Given the description of an element on the screen output the (x, y) to click on. 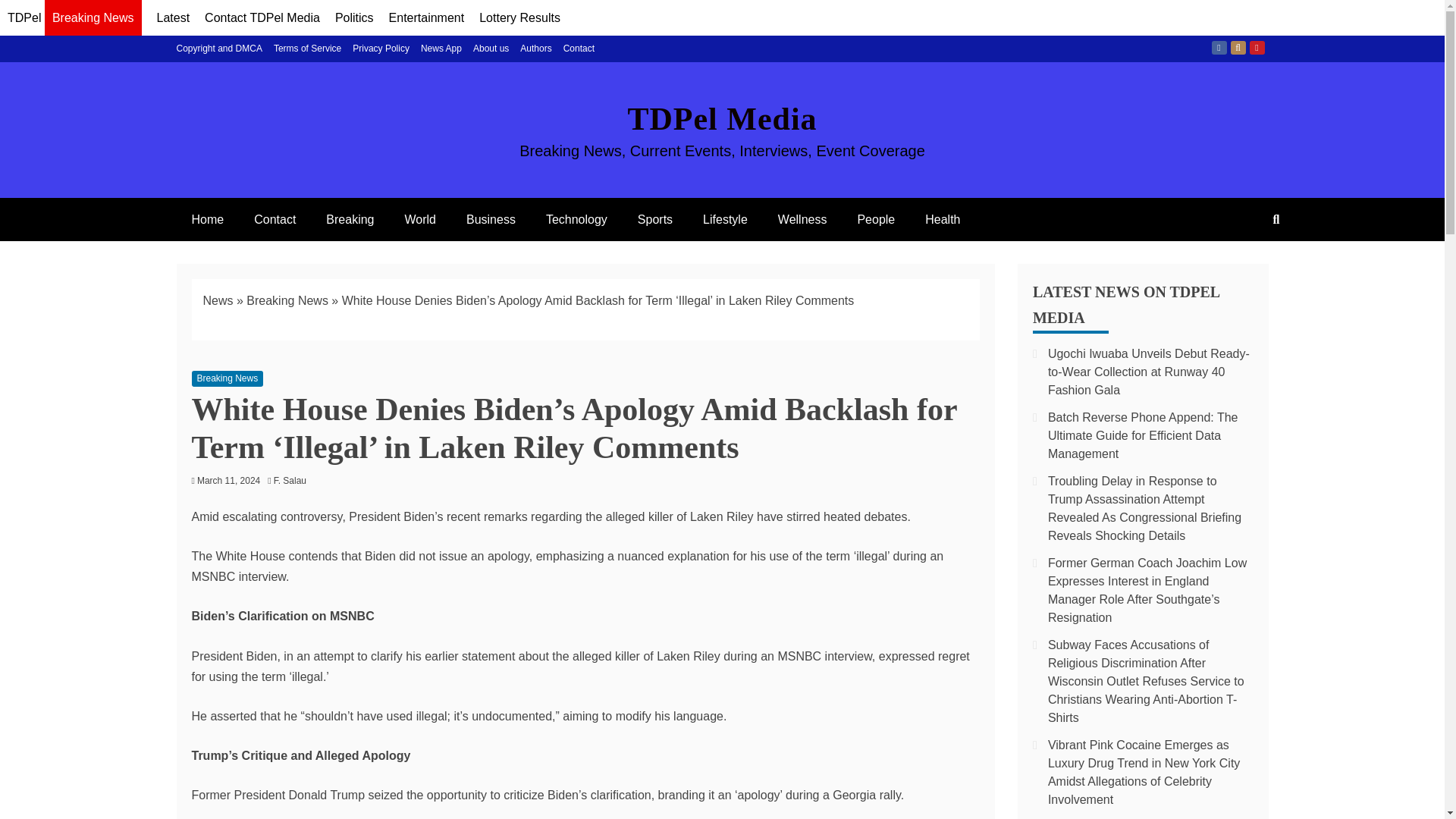
Breaking News (93, 19)
Home (207, 219)
Terms of Service (306, 48)
TDPel (23, 17)
News App (440, 48)
Lifestyle (724, 219)
Business (491, 219)
Contact (578, 48)
People (875, 219)
Facebook (1219, 47)
Privacy Policy (380, 48)
Breaking News (287, 300)
Health (942, 219)
F. Salau (293, 480)
Authors (535, 48)
